Given the description of an element on the screen output the (x, y) to click on. 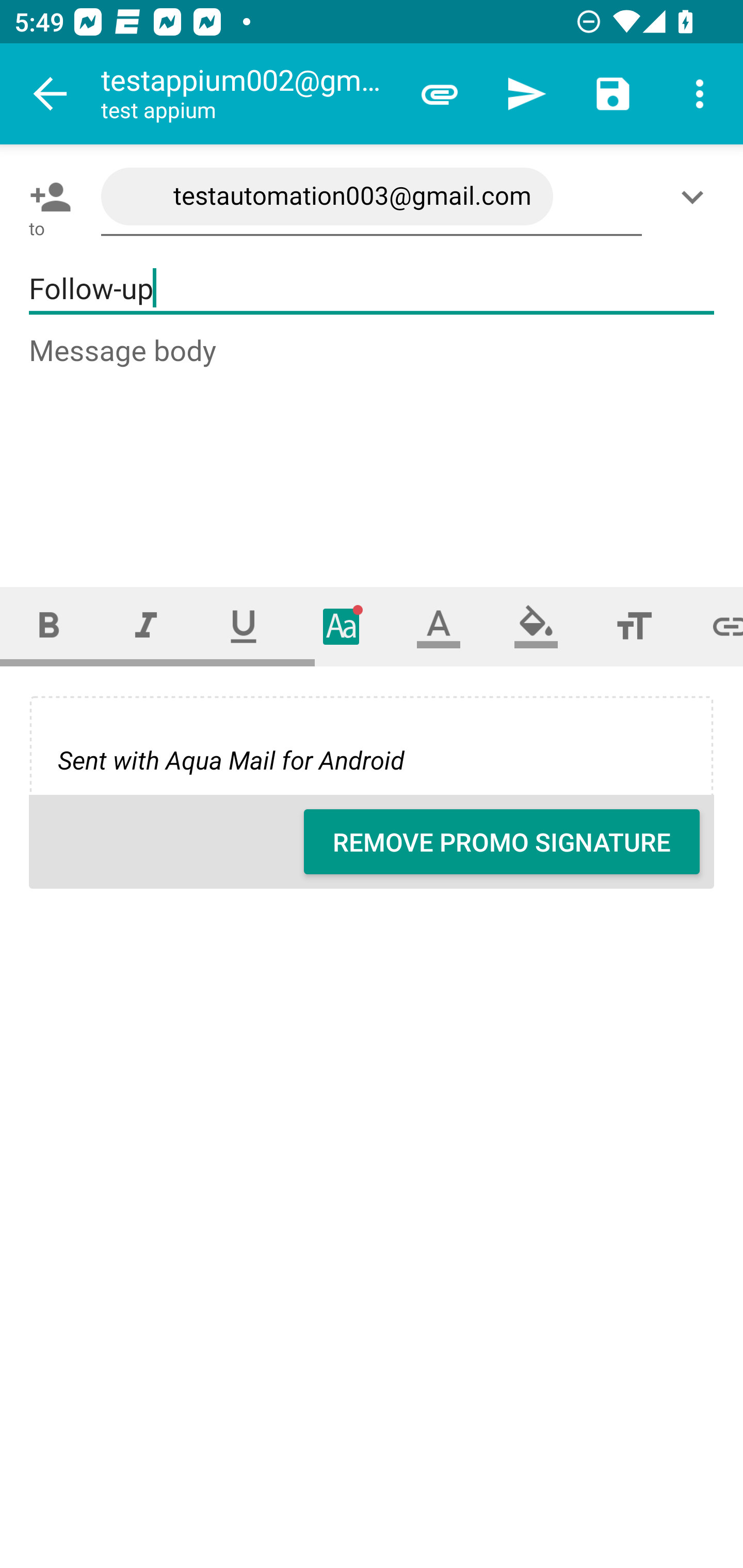
Navigate up (50, 93)
testappium002@gmail.com test appium (248, 93)
Attach (439, 93)
Send (525, 93)
Save (612, 93)
More options (699, 93)
testautomation003@gmail.com,  (371, 197)
Pick contact: To (46, 196)
Show/Add CC/BCC (696, 196)
Follow-up (371, 288)
Message body (372, 442)
Bold (48, 626)
Italic (145, 626)
Underline (243, 626)
Typeface (font) (341, 626)
Text color (438, 626)
Fill color (536, 626)
Font size (633, 626)
Set link (712, 626)
REMOVE PROMO SIGNATURE (501, 841)
